Given the description of an element on the screen output the (x, y) to click on. 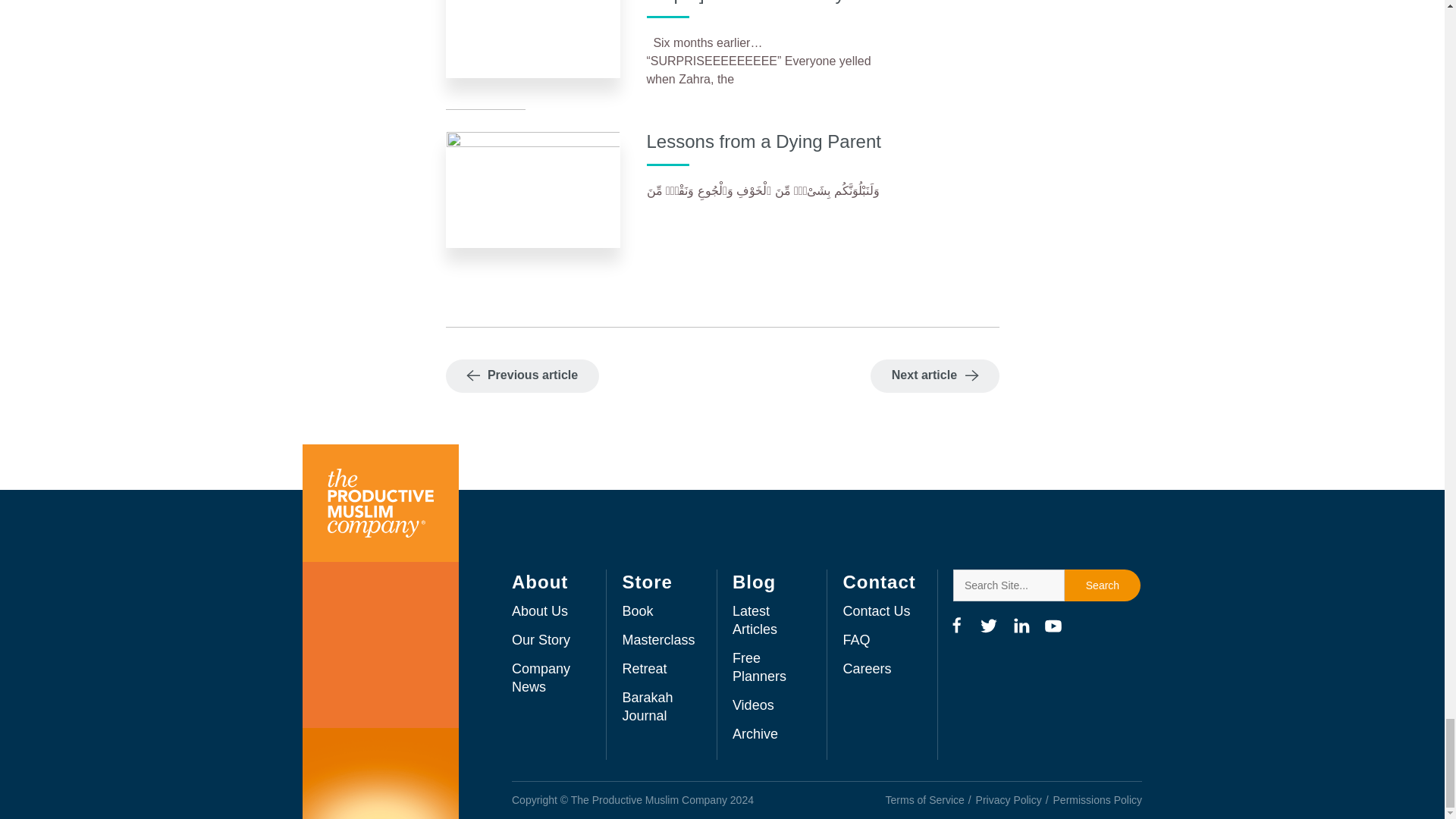
Previous article (522, 376)
Book (636, 611)
Next article (934, 376)
Masterclass (657, 639)
Barakah Journal (646, 706)
About Us (539, 611)
Our Story (541, 639)
Search (1102, 585)
Retreat (643, 668)
Lessons from a Dying Parent (763, 141)
